Given the description of an element on the screen output the (x, y) to click on. 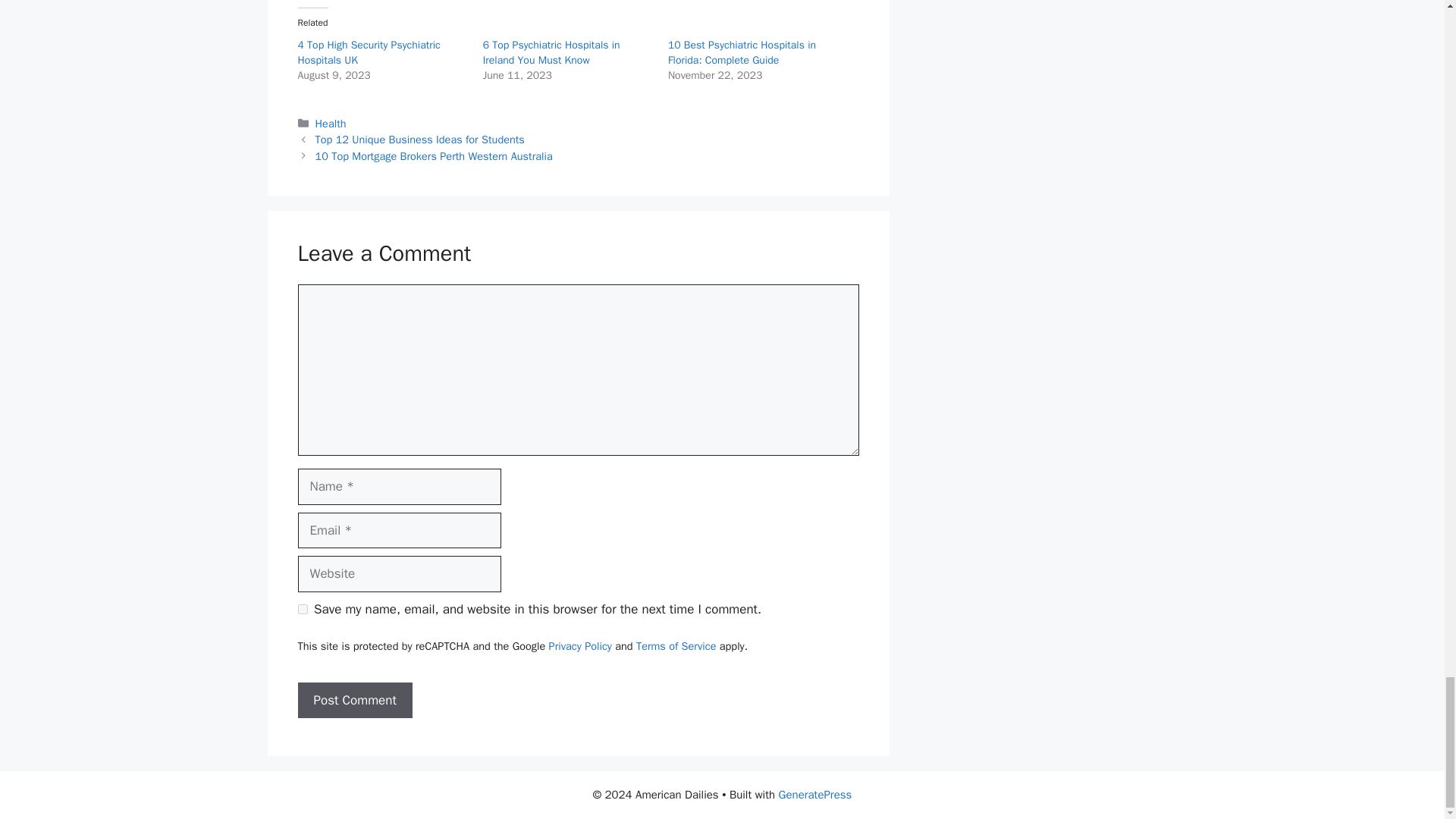
Top 12 Unique Business Ideas for Students (419, 139)
yes (302, 609)
10 Best Psychiatric Hospitals in Florida: Complete Guide (741, 52)
Health (330, 123)
4 Top High Security Psychiatric Hospitals UK (368, 52)
10 Top Mortgage Brokers Perth Western Australia (434, 155)
Post Comment (354, 700)
6 Top Psychiatric Hospitals in Ireland You Must Know (551, 52)
Post Comment (354, 700)
10 Best Psychiatric Hospitals in Florida: Complete Guide (741, 52)
Terms of Service (676, 645)
Privacy Policy (579, 645)
4 Top High Security Psychiatric Hospitals UK (368, 52)
6 Top Psychiatric Hospitals in Ireland You Must Know (551, 52)
